Given the description of an element on the screen output the (x, y) to click on. 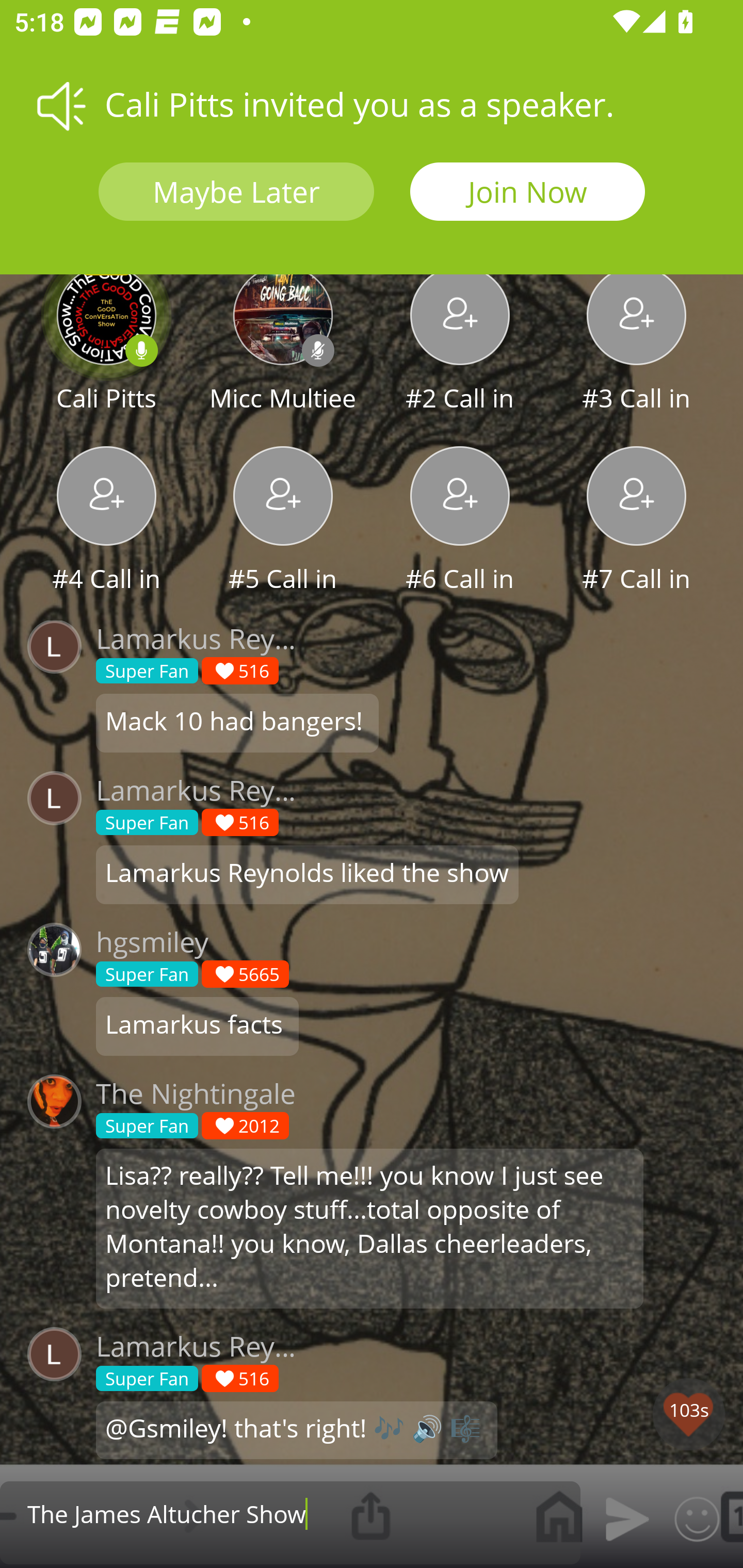
Maybe Later (235, 192)
Join Now (527, 192)
HOST Cali Pitts (105, 340)
Micc Multiee (282, 340)
#2 Call in (459, 340)
#3 Call in (636, 340)
#4 Call in (105, 521)
#5 Call in (282, 521)
#6 Call in (459, 521)
#7 Call in (636, 521)
The James Altucher Show (289, 1513)
